Given the description of an element on the screen output the (x, y) to click on. 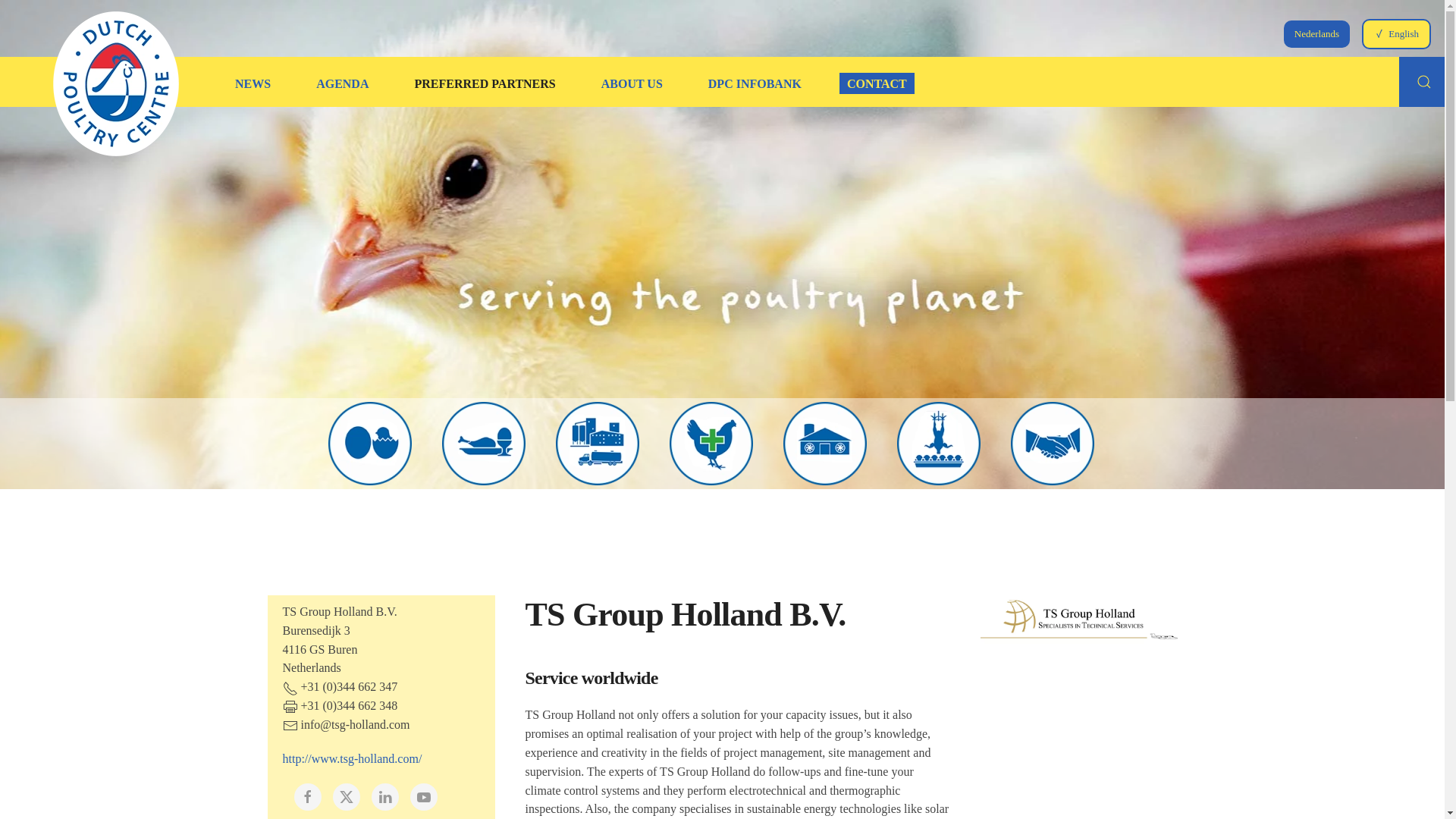
ABOUT US (631, 83)
DPC INFOBANK (754, 83)
Nederlands (1316, 33)
English (1396, 33)
AGENDA (341, 83)
CONTACT (877, 83)
NEWS (252, 83)
PREFERRED PARTNERS (484, 83)
